Given the description of an element on the screen output the (x, y) to click on. 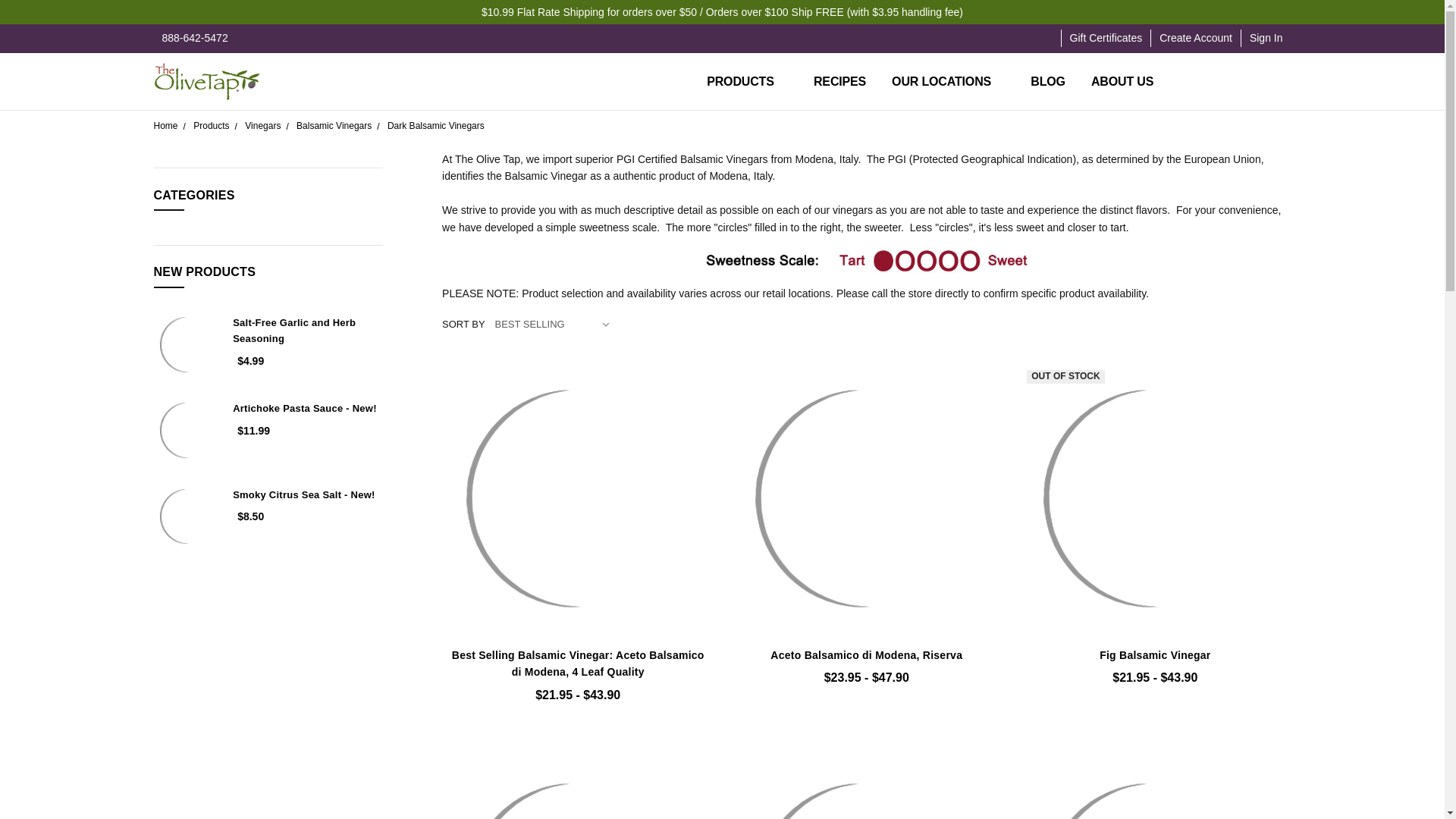
Smoky Citrus Sea Salt in jar from The Olive Tap (187, 516)
Aceto Balsamico di Modena 4 Leaf Vinegar from The Olive Tap (577, 497)
Bordeaux Cherry Balsamic Vinegar from The Olive Tap (866, 787)
The Olive Tap (206, 81)
Black Currant Balsamic Vinegar from The Olive Tap (1154, 787)
PRODUCTS (747, 81)
Gift Certificates (1106, 37)
Salt-Free Garlic and Herb Seasoning from The Olive Tap (187, 344)
Dark Chocolate Balsamic Vinegar from The Olive Tap (577, 787)
Aceto Balsamico di Modena, Riserva from The Olive Tap (866, 497)
